Given the description of an element on the screen output the (x, y) to click on. 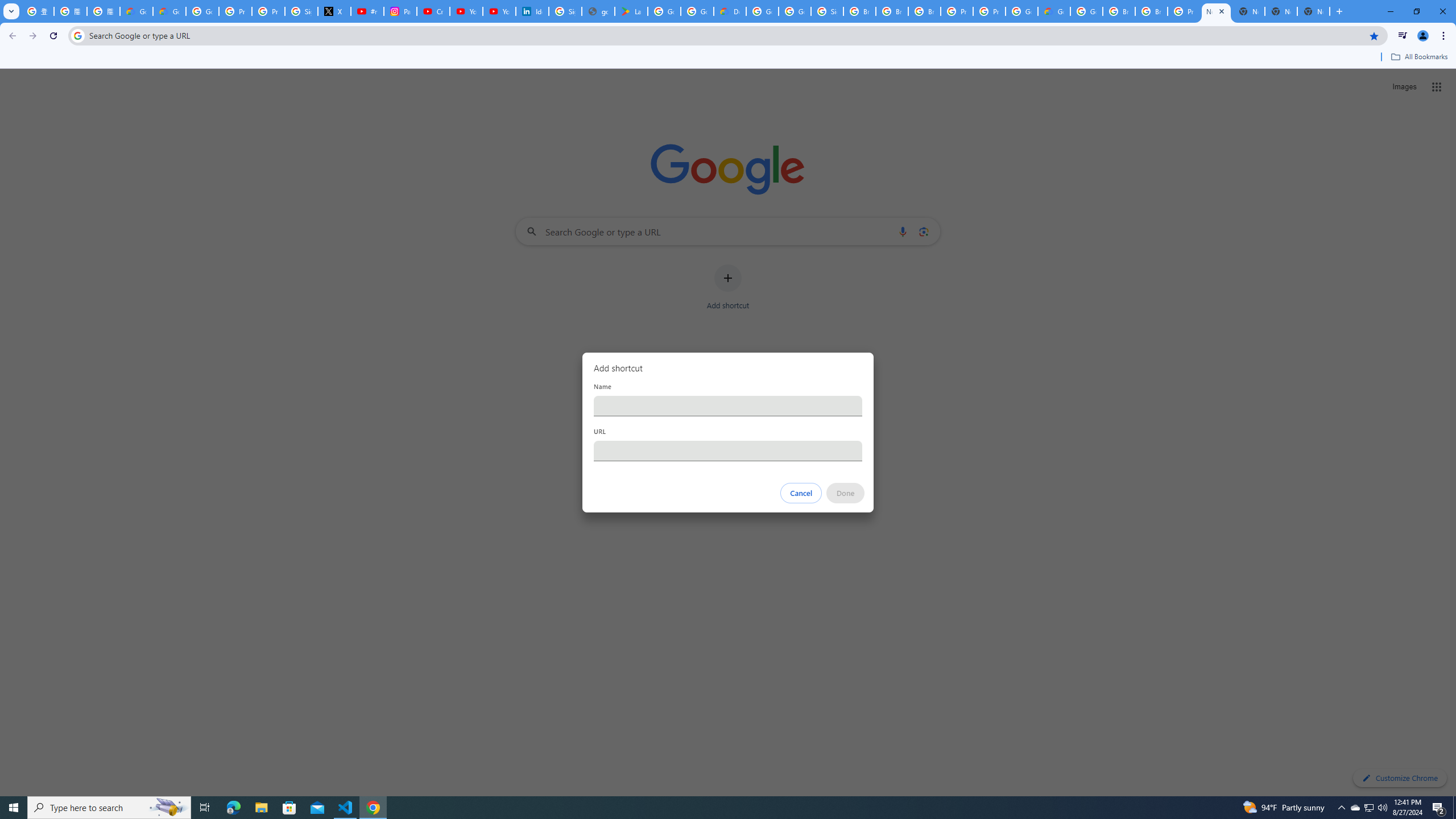
Sign in - Google Accounts (827, 11)
X (334, 11)
Google Cloud Platform (1021, 11)
Google Cloud Privacy Notice (169, 11)
Privacy Help Center - Policies Help (268, 11)
Browse Chrome as a guest - Computer - Google Chrome Help (859, 11)
